Given the description of an element on the screen output the (x, y) to click on. 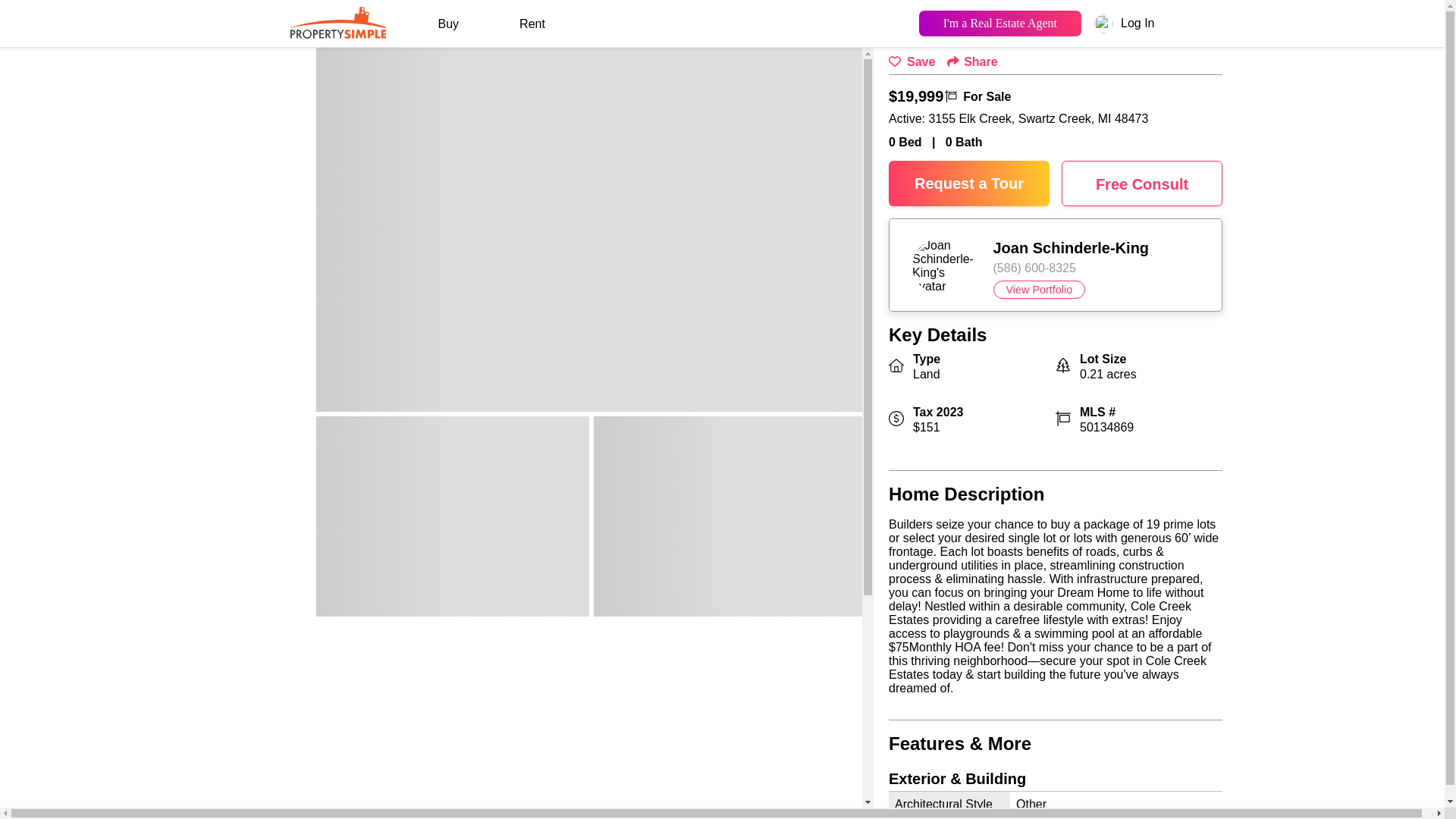
Buy (448, 24)
View Portfolio (1039, 289)
Request a Tour (968, 183)
Rent (532, 24)
I'm a Real Estate Agent (999, 22)
PropertySimple's Logo (337, 33)
Free Consult (1142, 183)
PropertySimple's Logo (337, 21)
